Given the description of an element on the screen output the (x, y) to click on. 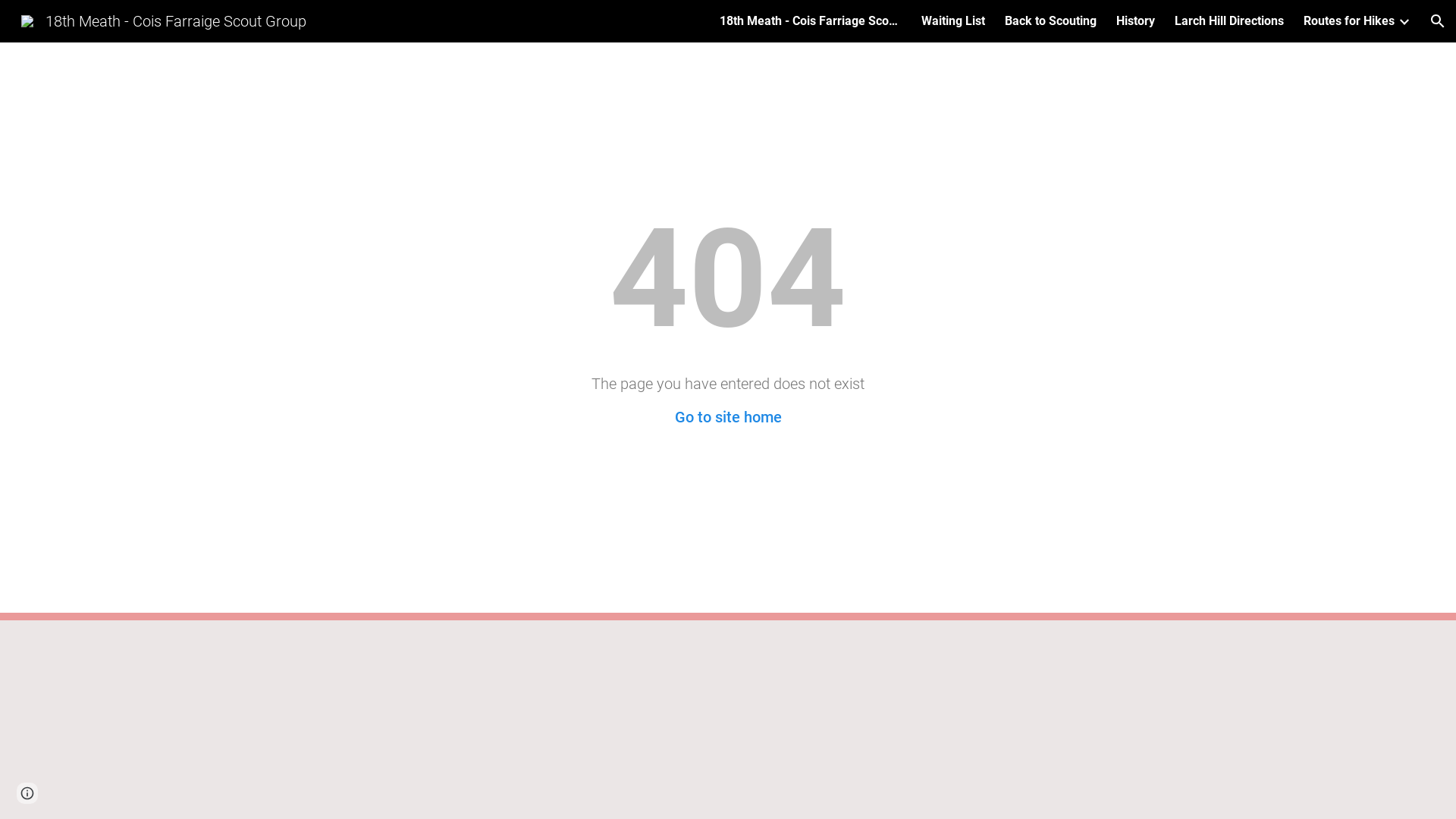
Go to site home Element type: text (727, 416)
Routes for Hikes Element type: text (1348, 20)
Waiting List Element type: text (953, 20)
Expand/Collapse Element type: hover (1403, 20)
Back to Scouting Element type: text (1050, 20)
Larch Hill Directions Element type: text (1228, 20)
18th Meath - Cois Farraige Scout Group Element type: text (163, 19)
History Element type: text (1135, 20)
